Given the description of an element on the screen output the (x, y) to click on. 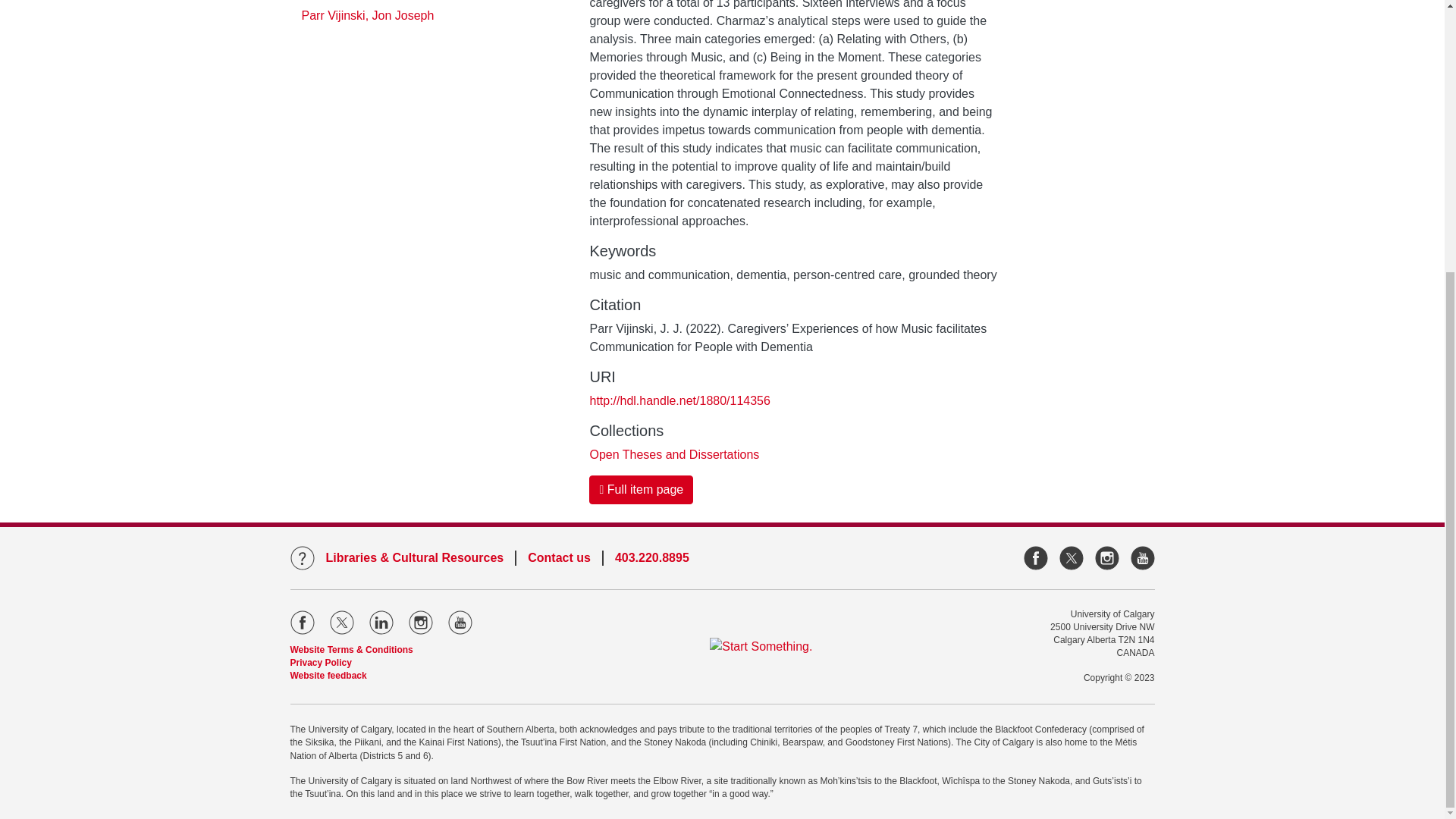
Open Theses and Dissertations (673, 454)
403.220.8895 (651, 558)
Parr Vijinski, Jon Joseph (367, 15)
Contact us (559, 558)
Full item page (641, 489)
